Given the description of an element on the screen output the (x, y) to click on. 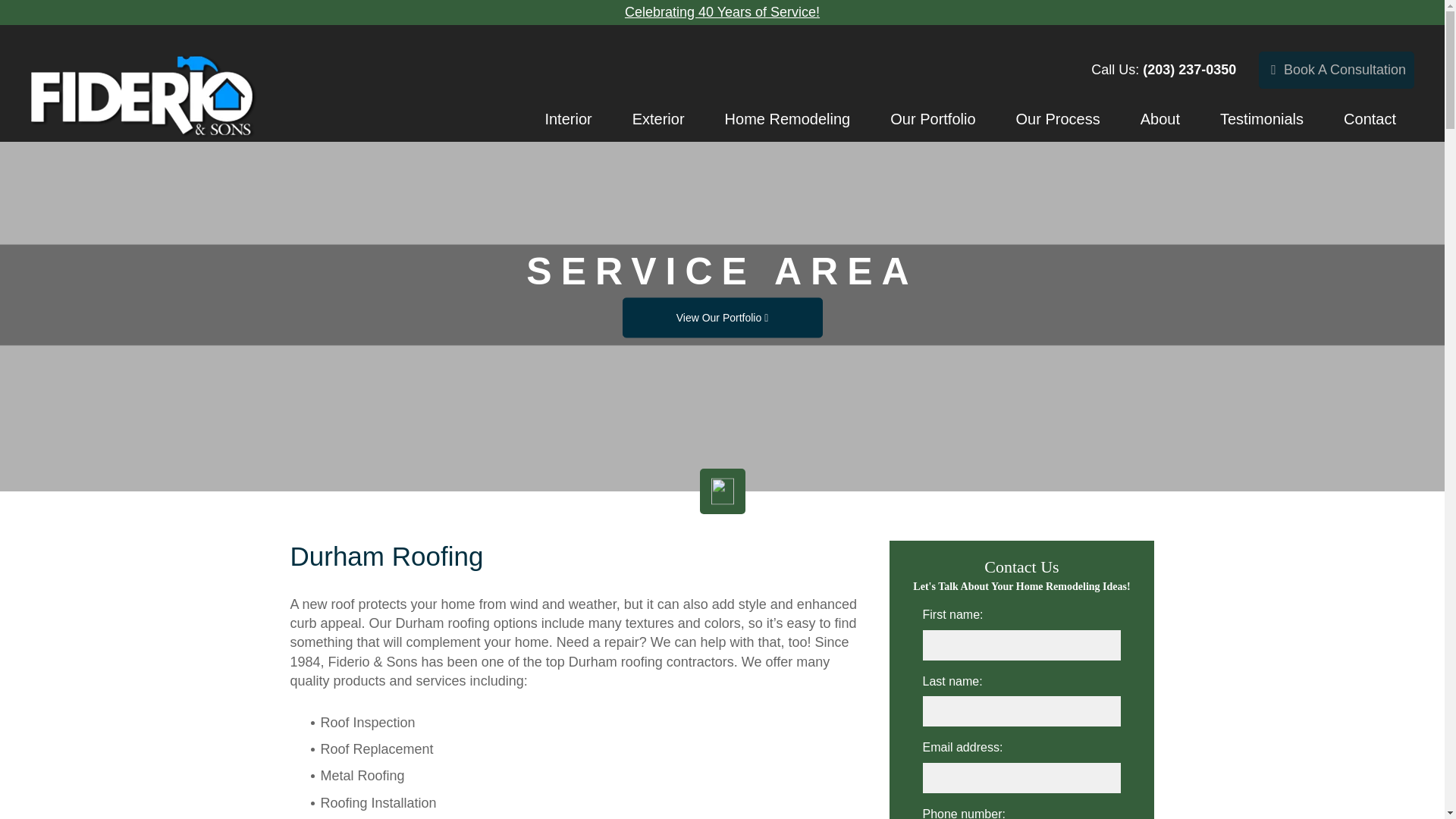
Our Process (1058, 118)
Interior (567, 118)
Celebrating 40 Years of Service! (721, 11)
Book A Consultation (1336, 69)
Book A Consultation (1336, 68)
Exterior (657, 118)
Our Portfolio (932, 118)
Home Remodeling (787, 118)
